Given the description of an element on the screen output the (x, y) to click on. 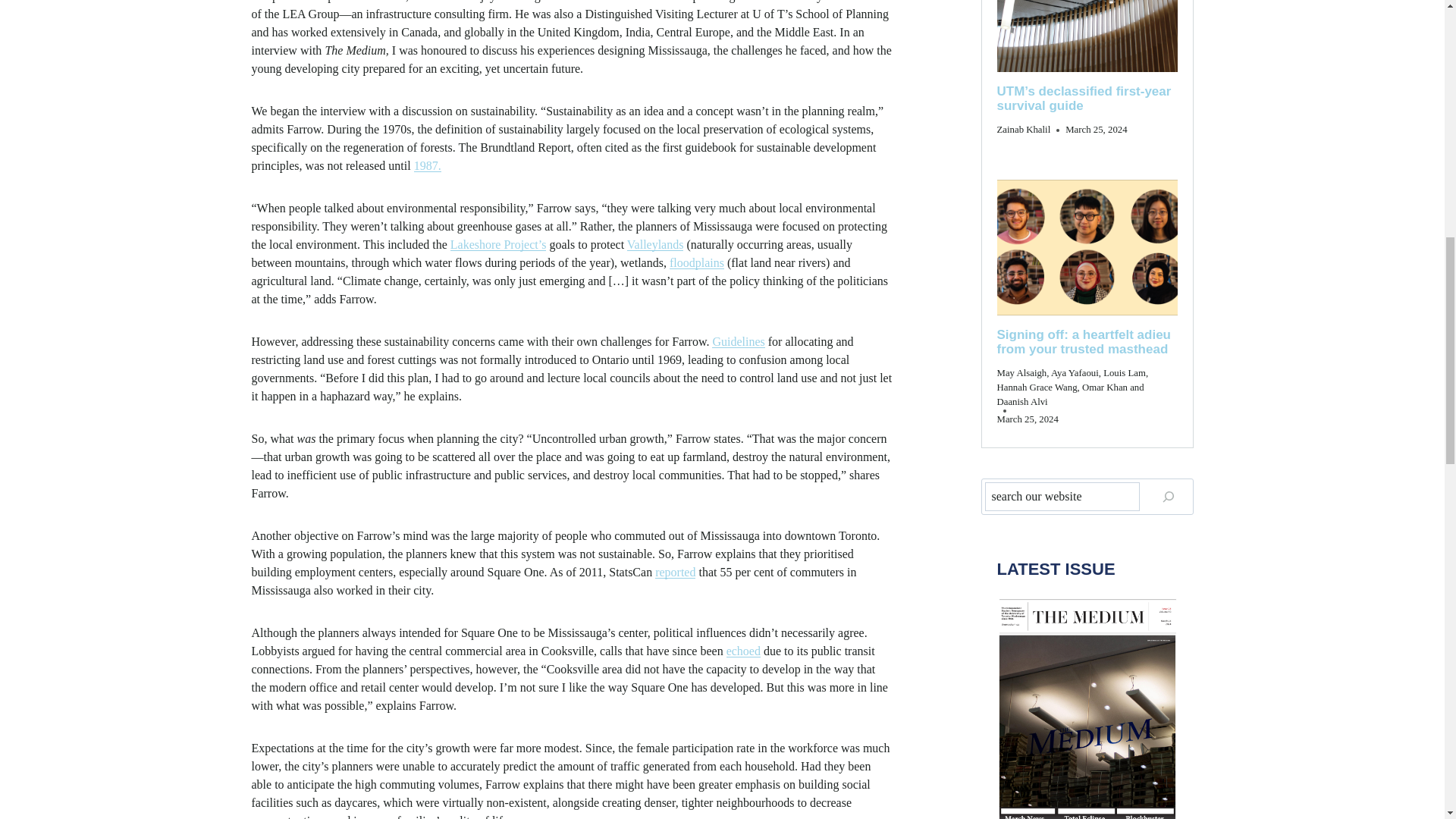
Valleylands (655, 244)
Guidelines (737, 341)
1987. (427, 164)
reported (675, 571)
floodplains (696, 262)
echoed (743, 650)
